Given the description of an element on the screen output the (x, y) to click on. 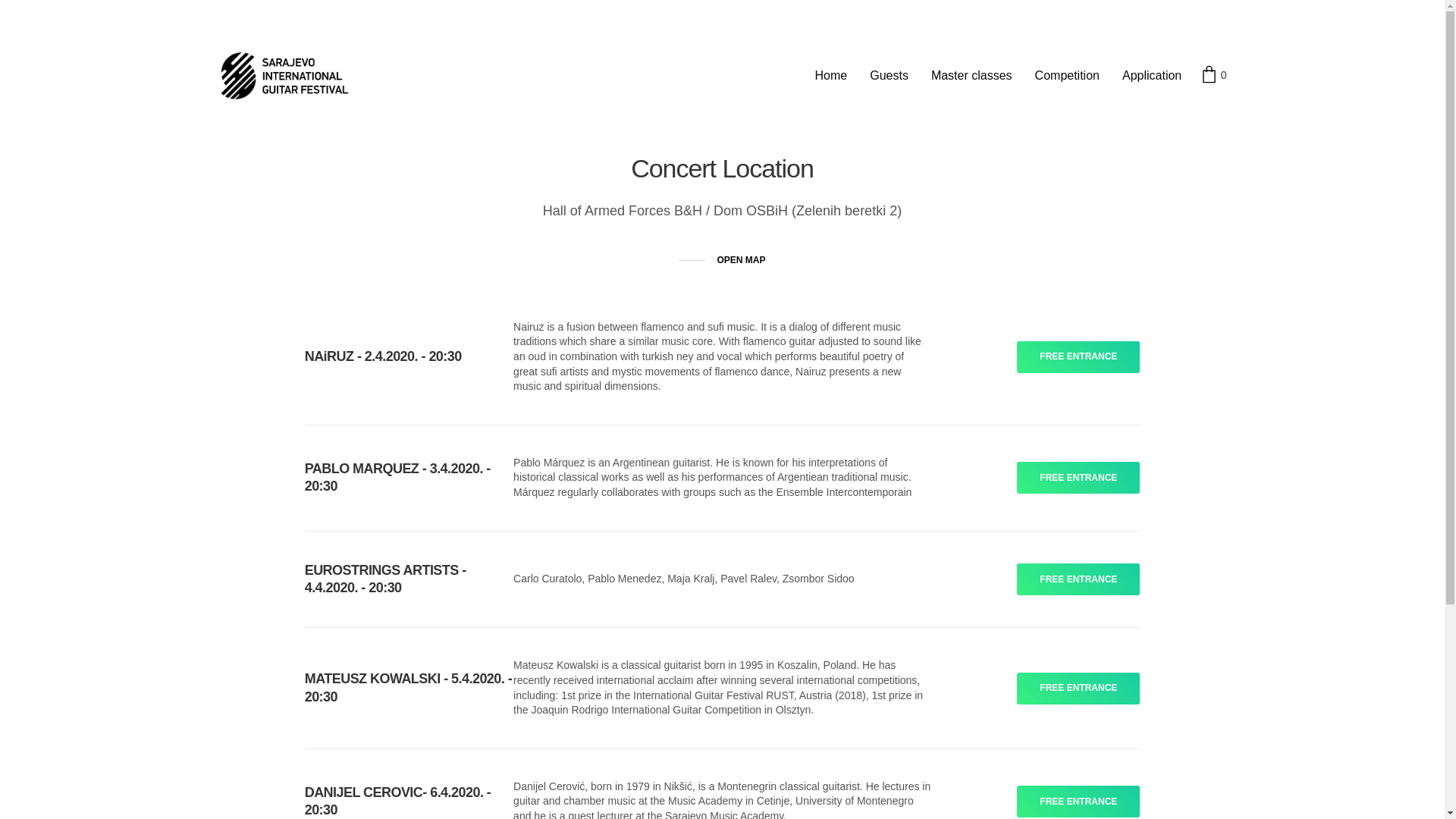
OPEN MAP Element type: text (721, 260)
Application Element type: text (1151, 75)
Competition Element type: text (1067, 75)
Home Element type: text (831, 75)
FREE ENTRANCE Element type: text (1077, 357)
FREE ENTRANCE Element type: text (1077, 688)
FREE ENTRANCE Element type: text (1077, 477)
Sarajevo International Guitar Festival  Element type: hover (284, 75)
FREE ENTRANCE Element type: text (1077, 801)
FREE ENTRANCE Element type: text (1077, 579)
Guests Element type: text (888, 75)
Master classes Element type: text (971, 75)
